Given the description of an element on the screen output the (x, y) to click on. 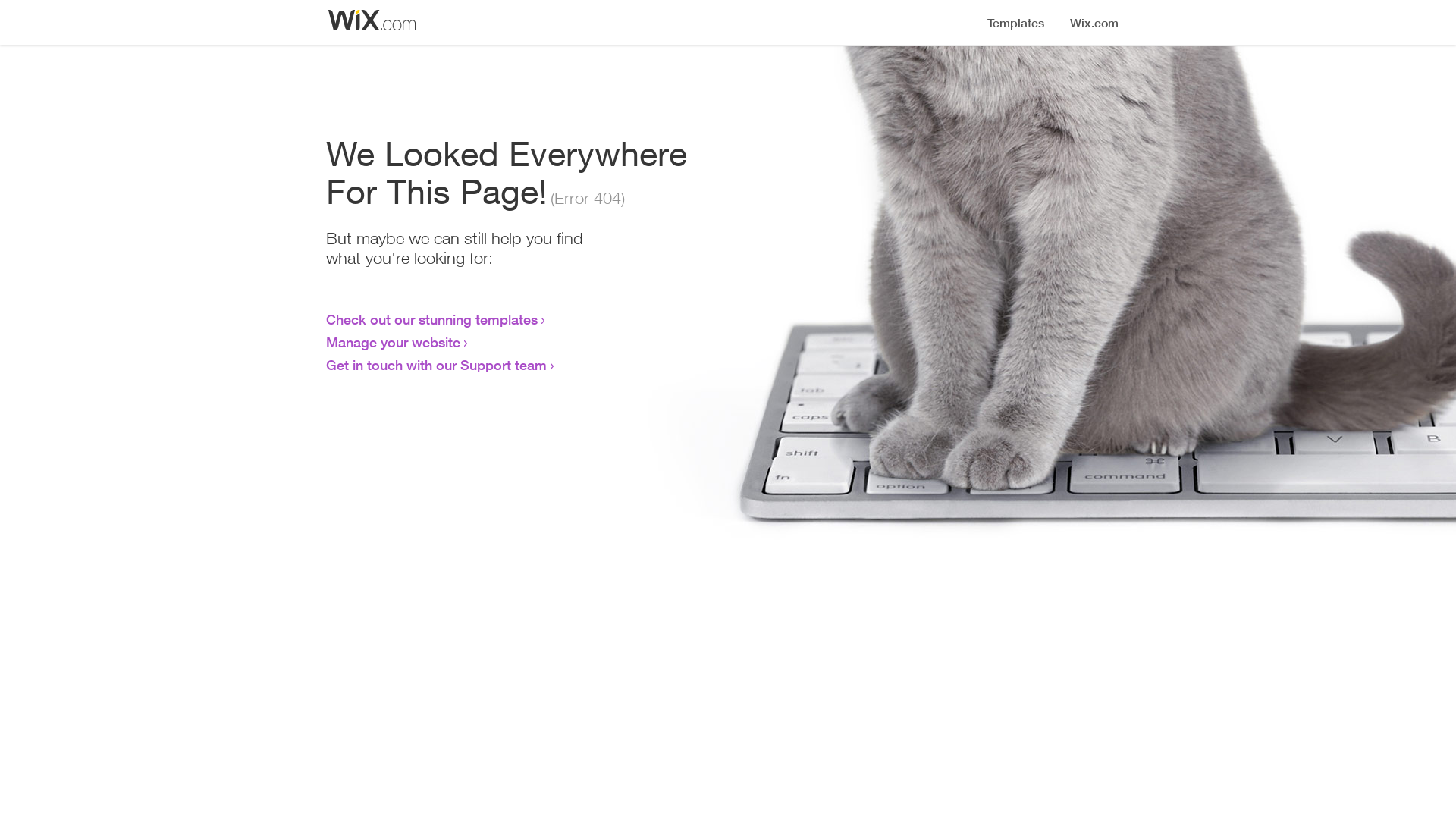
Check out our stunning templates Element type: text (431, 318)
Get in touch with our Support team Element type: text (436, 364)
Manage your website Element type: text (393, 341)
